Given the description of an element on the screen output the (x, y) to click on. 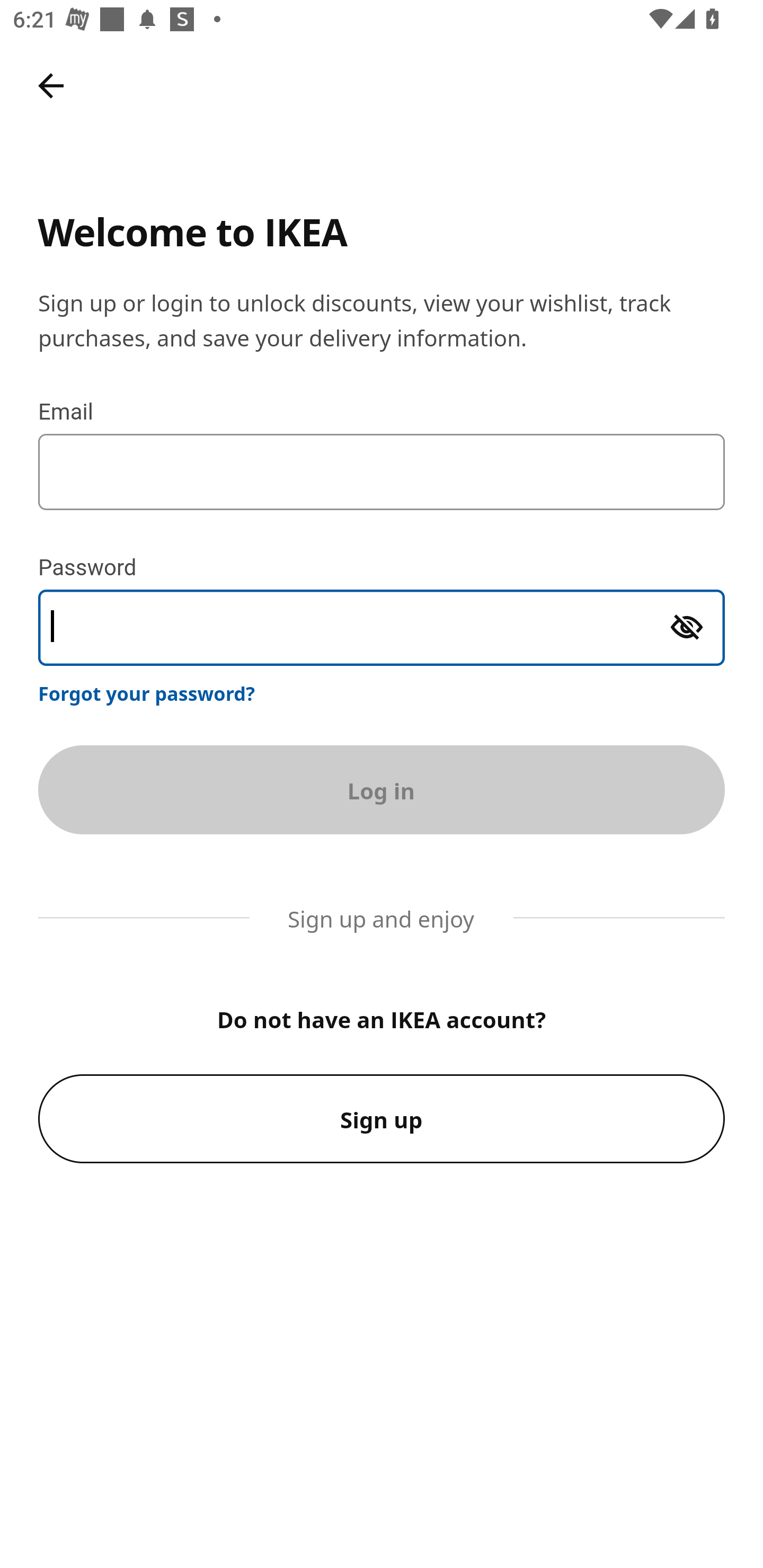
Forgot your password? (146, 692)
Log in (381, 789)
Sign up (381, 1118)
